Given the description of an element on the screen output the (x, y) to click on. 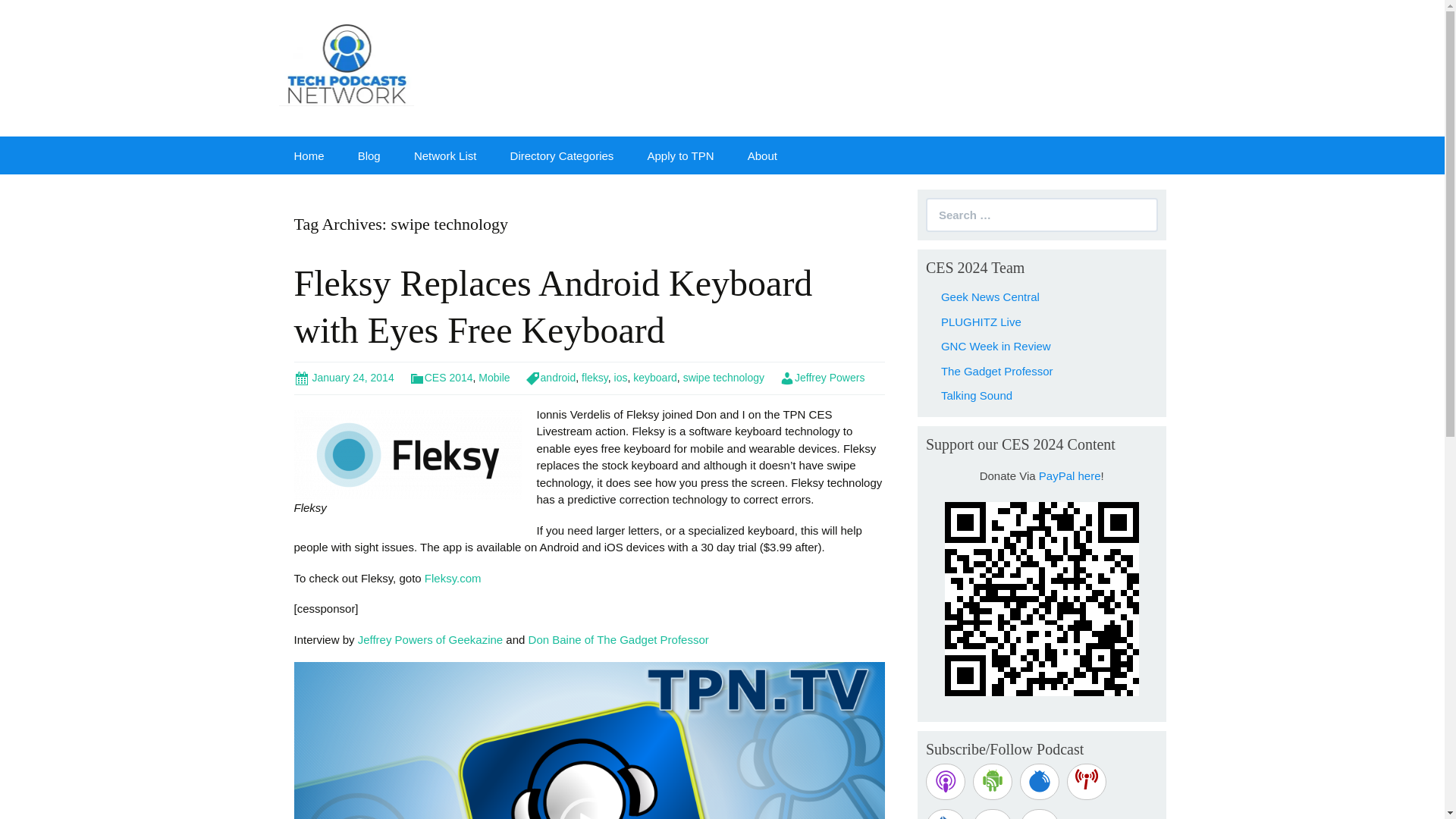
keyboard (655, 377)
Subscribe on Podcast Index (1086, 781)
January 24, 2014 (344, 377)
Talking Sound (975, 395)
CES 2014 (441, 377)
fleksy (594, 377)
Subscribe on Apple Podcasts (945, 781)
Subscribe by Email (945, 814)
Don Baine of The Gadget Professor (618, 639)
Mobile (494, 377)
swipe technology (723, 377)
GNC Week in Review (995, 345)
Fleksy Replaces Android Keyboard with Eyes Free Keyboard (553, 306)
Search (23, 11)
